Given the description of an element on the screen output the (x, y) to click on. 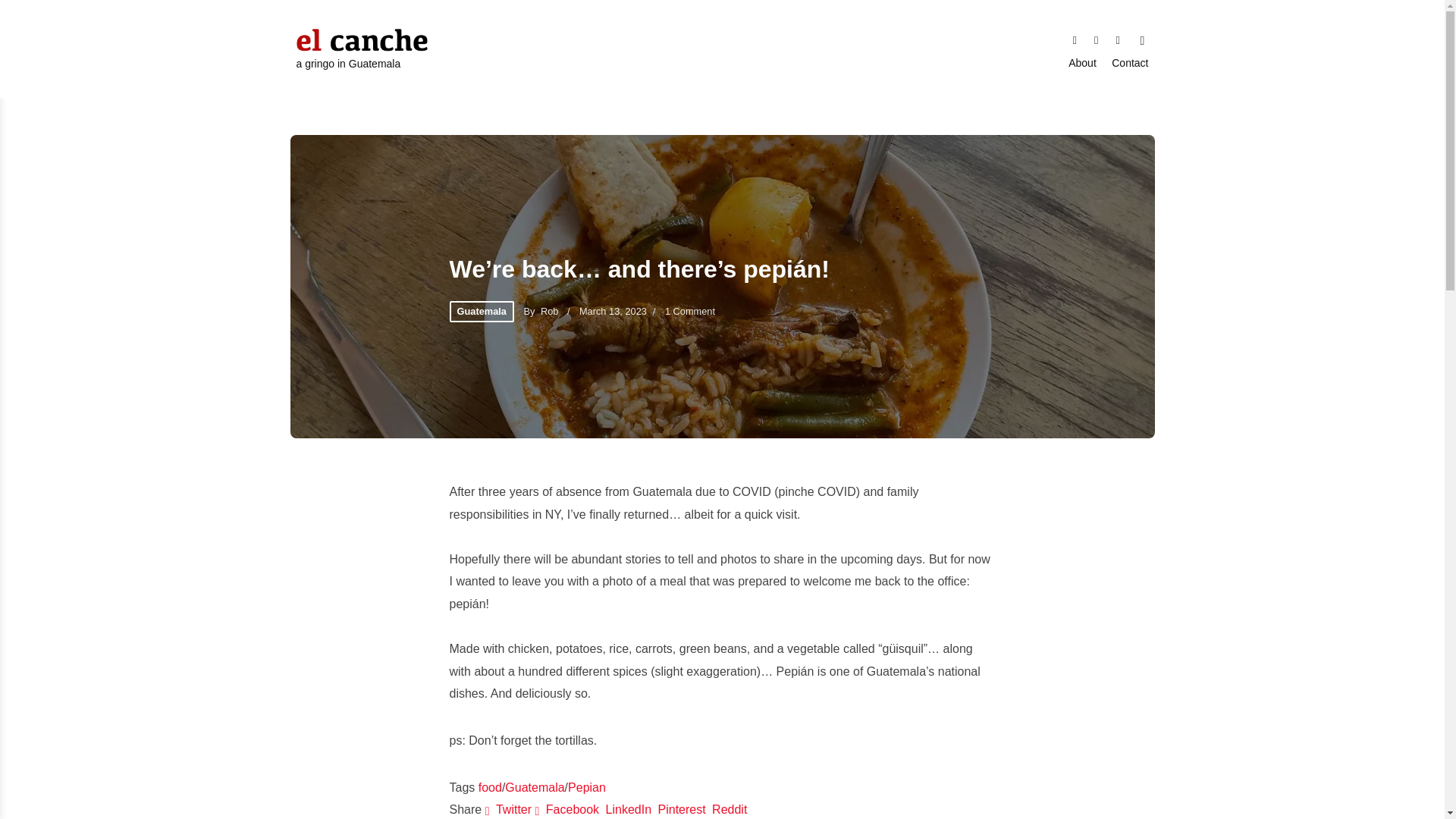
Guatemala (480, 311)
Facebook (1096, 38)
Twitter (509, 809)
Share on Facebook (568, 809)
About (1082, 63)
Contact (1129, 63)
Twitter (1074, 38)
Pinterest (682, 809)
Pepian (586, 787)
Facebook (1096, 38)
Facebook (568, 809)
Tweet This! (509, 809)
1 Comment (689, 310)
Search (1141, 39)
Guatemala (534, 787)
